Given the description of an element on the screen output the (x, y) to click on. 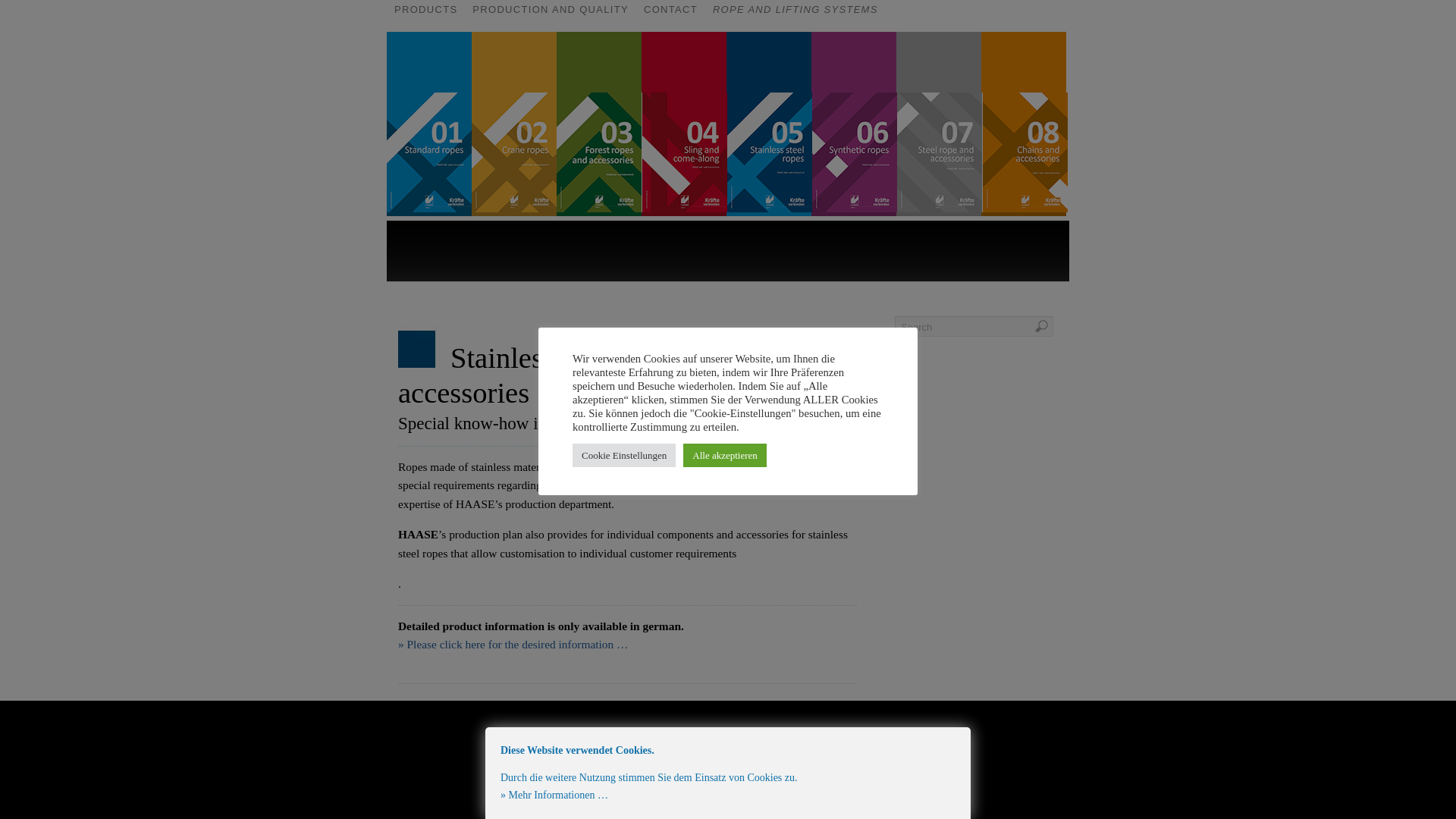
Search (973, 326)
PRODUCTION AND QUALITY (550, 10)
Search (973, 326)
CONTACT (670, 10)
PRODUCTS (425, 10)
ROPE AND LIFTING SYSTEMS (794, 10)
